Given the description of an element on the screen output the (x, y) to click on. 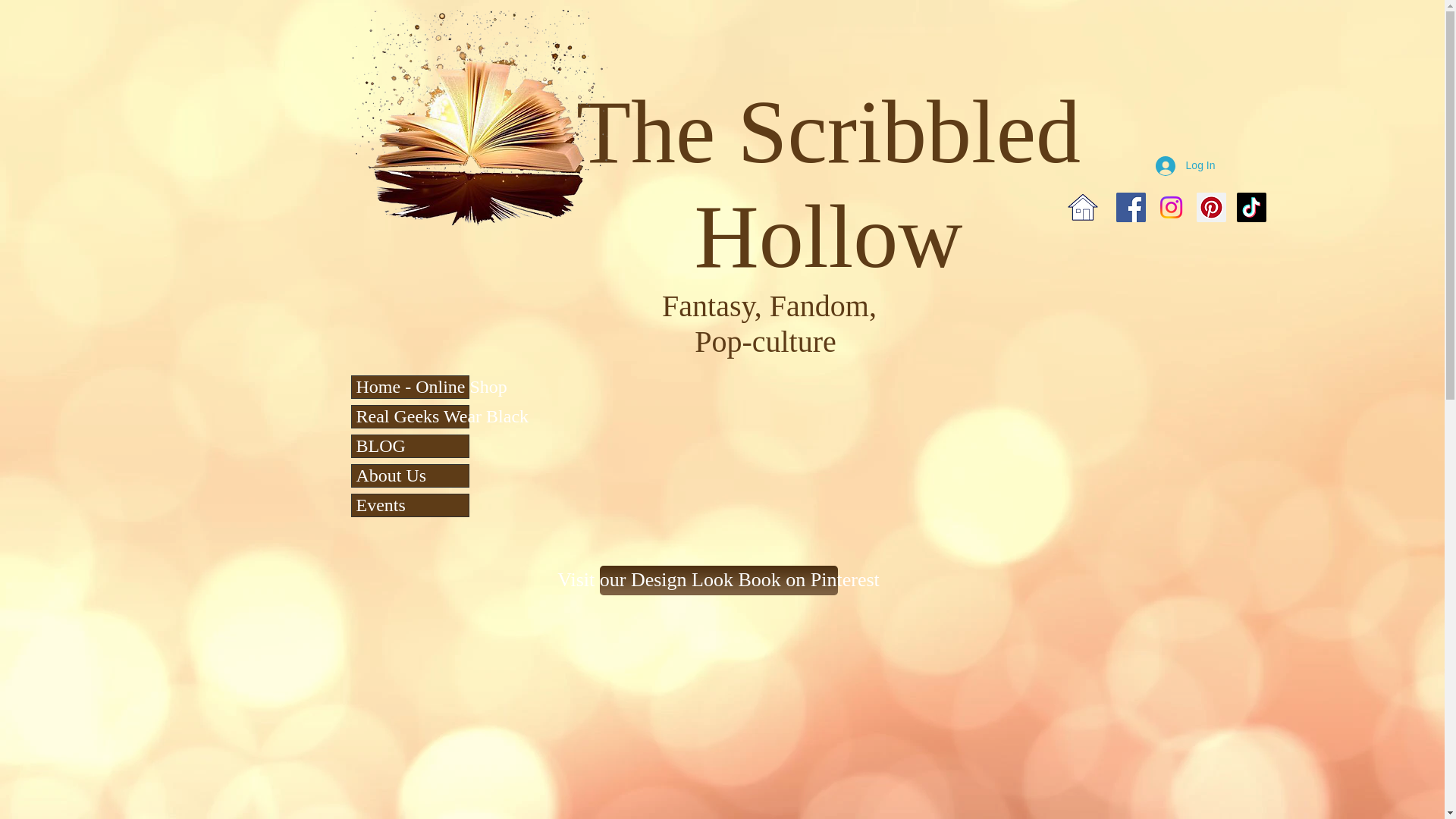
Visit our Design Look Book on Pinterest (717, 580)
The Scribbled Hollow (828, 183)
Log In (1184, 165)
Home - Online Shop (410, 386)
BLOG (410, 445)
Real Geeks Wear Black (410, 416)
About Us (410, 475)
Events (410, 505)
